Given the description of an element on the screen output the (x, y) to click on. 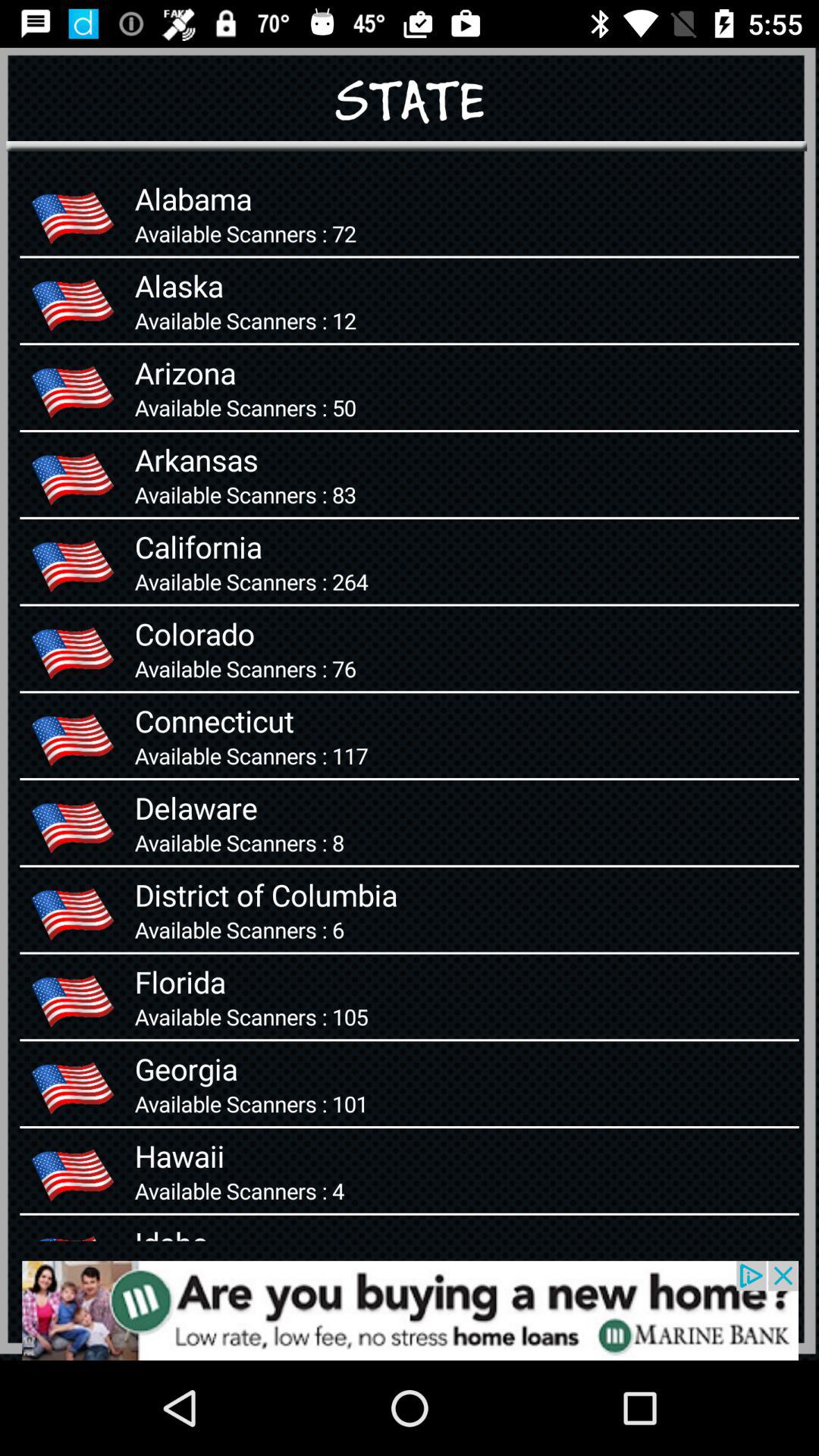
click on the flag beside florida (72, 997)
click on the mini image right to hawaii (72, 1170)
